Given the description of an element on the screen output the (x, y) to click on. 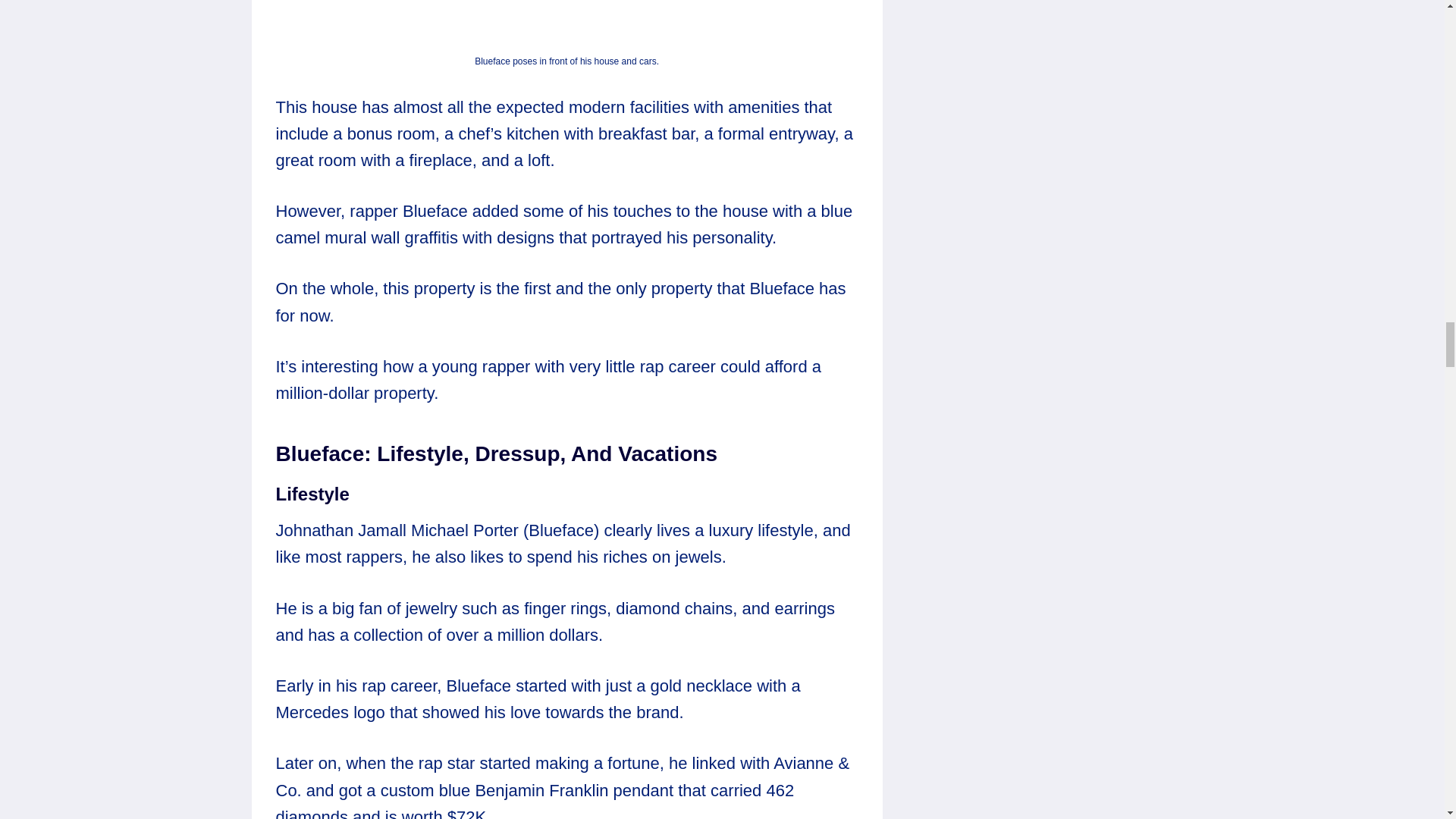
blueface-house-at-santa-clarita (567, 23)
